Given the description of an element on the screen output the (x, y) to click on. 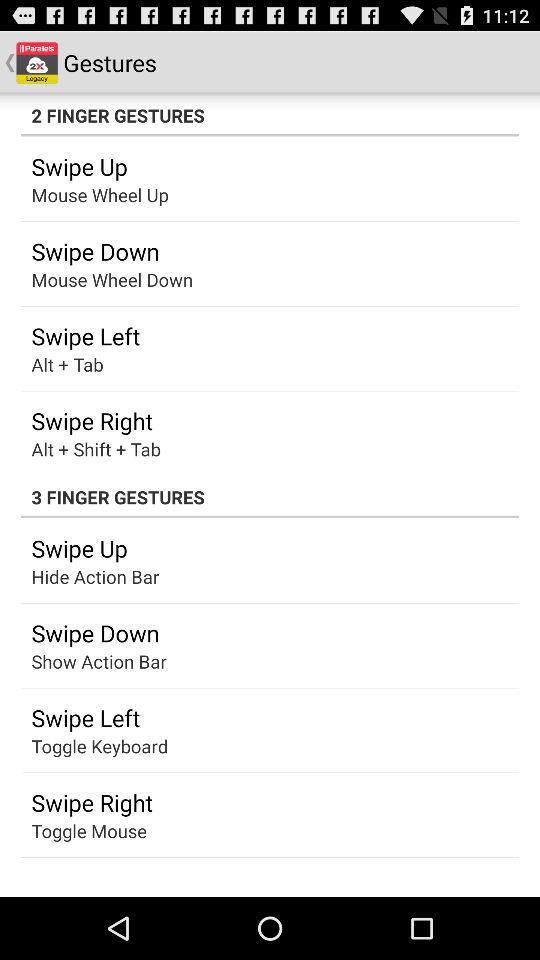
turn on the toggle keyboard app (99, 745)
